Given the description of an element on the screen output the (x, y) to click on. 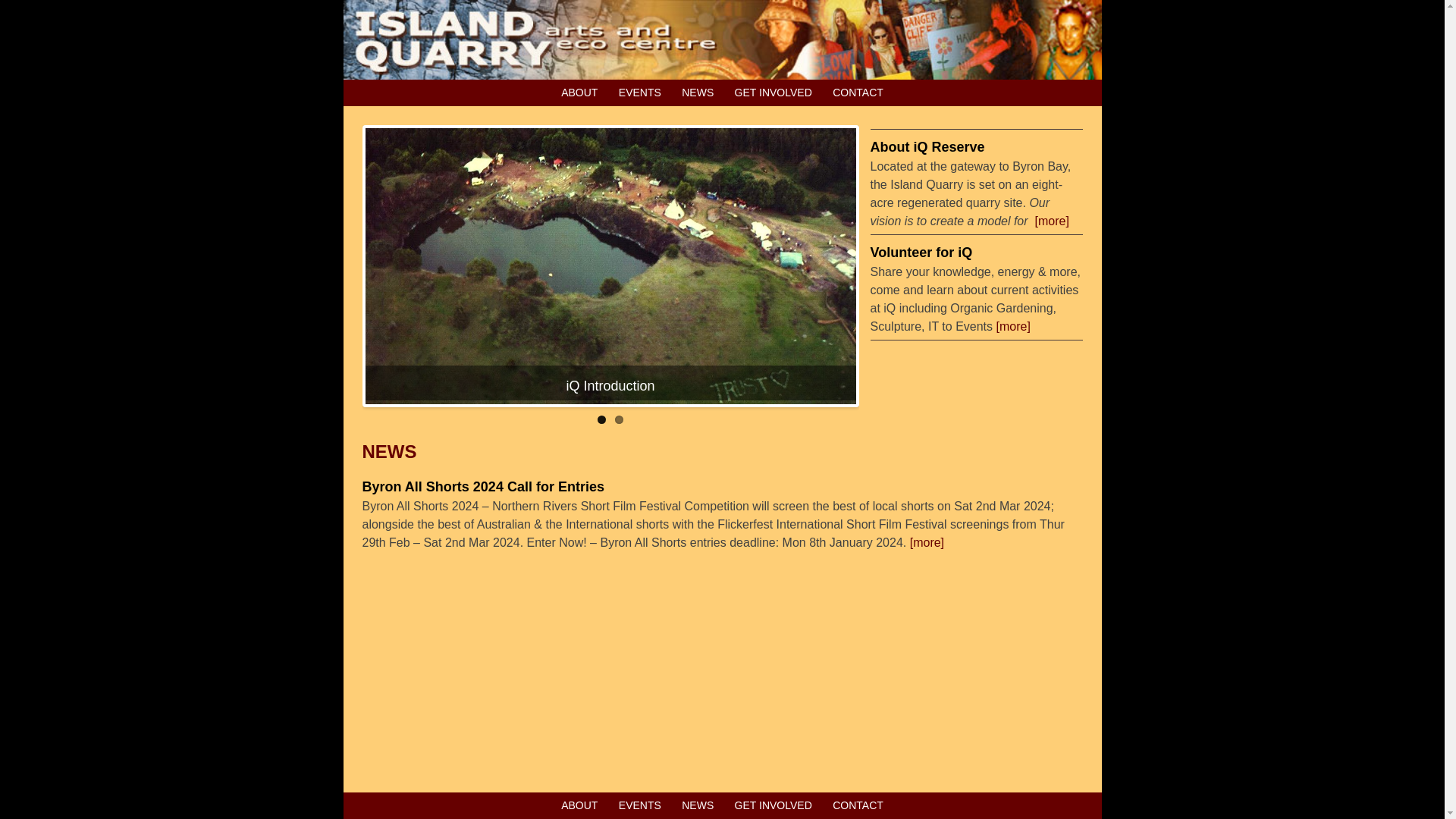
CONTACT Element type: text (857, 92)
ABOUT Element type: text (579, 92)
Volunteer for iQ Element type: text (921, 252)
Byron All Shorts 2024 Call for Entries Element type: text (483, 486)
NEWS Element type: text (697, 92)
About iQ Reserve Element type: text (927, 146)
[more] Element type: text (1013, 326)
GET INVOLVED Element type: text (772, 92)
1 Element type: text (601, 419)
[more] Element type: text (1051, 220)
iQ Introduction Element type: text (609, 392)
2 Element type: text (619, 419)
EVENTS Element type: text (639, 92)
[more] Element type: text (927, 542)
